Given the description of an element on the screen output the (x, y) to click on. 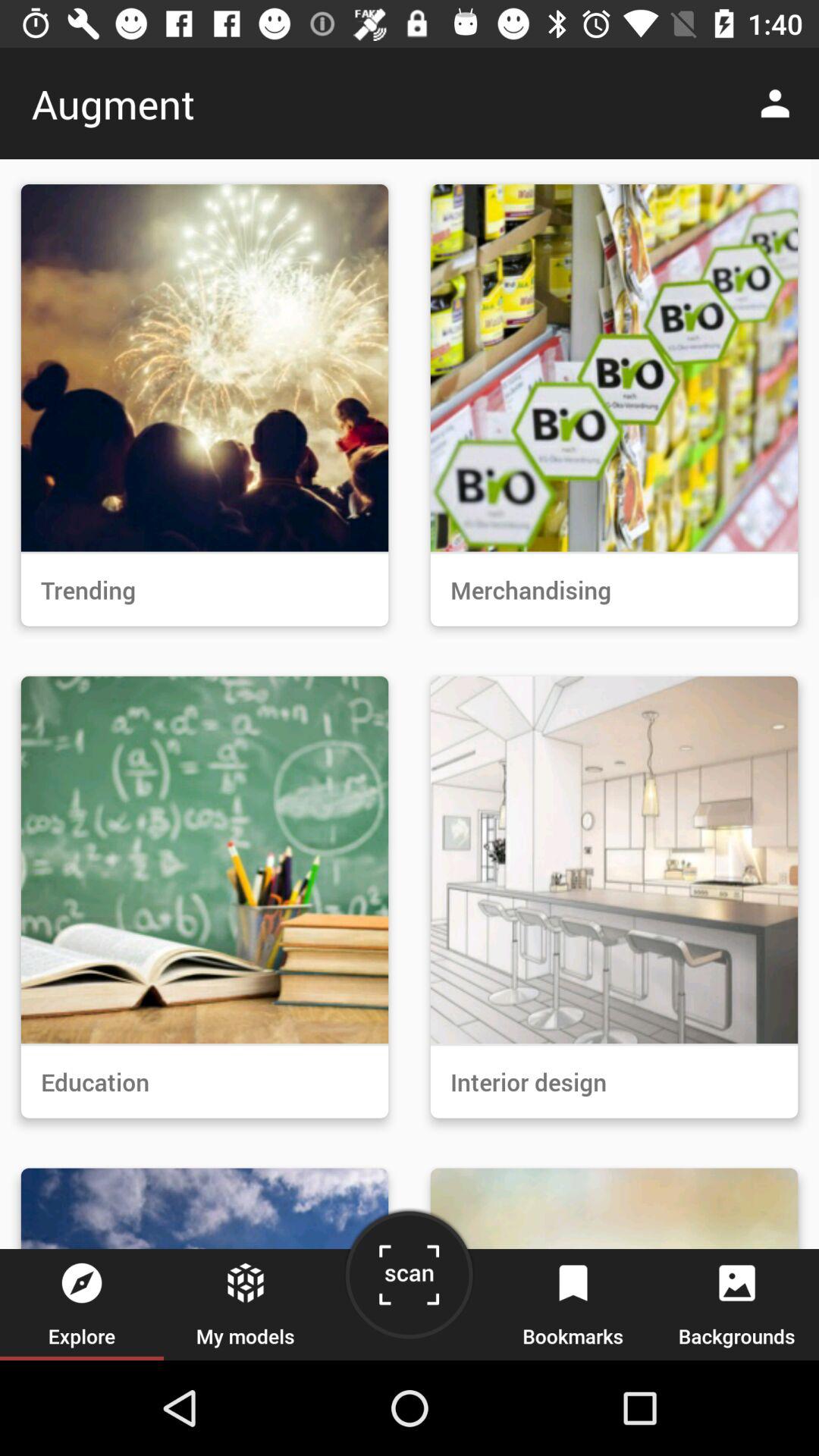
turn off the icon to the right of my models (408, 1280)
